Given the description of an element on the screen output the (x, y) to click on. 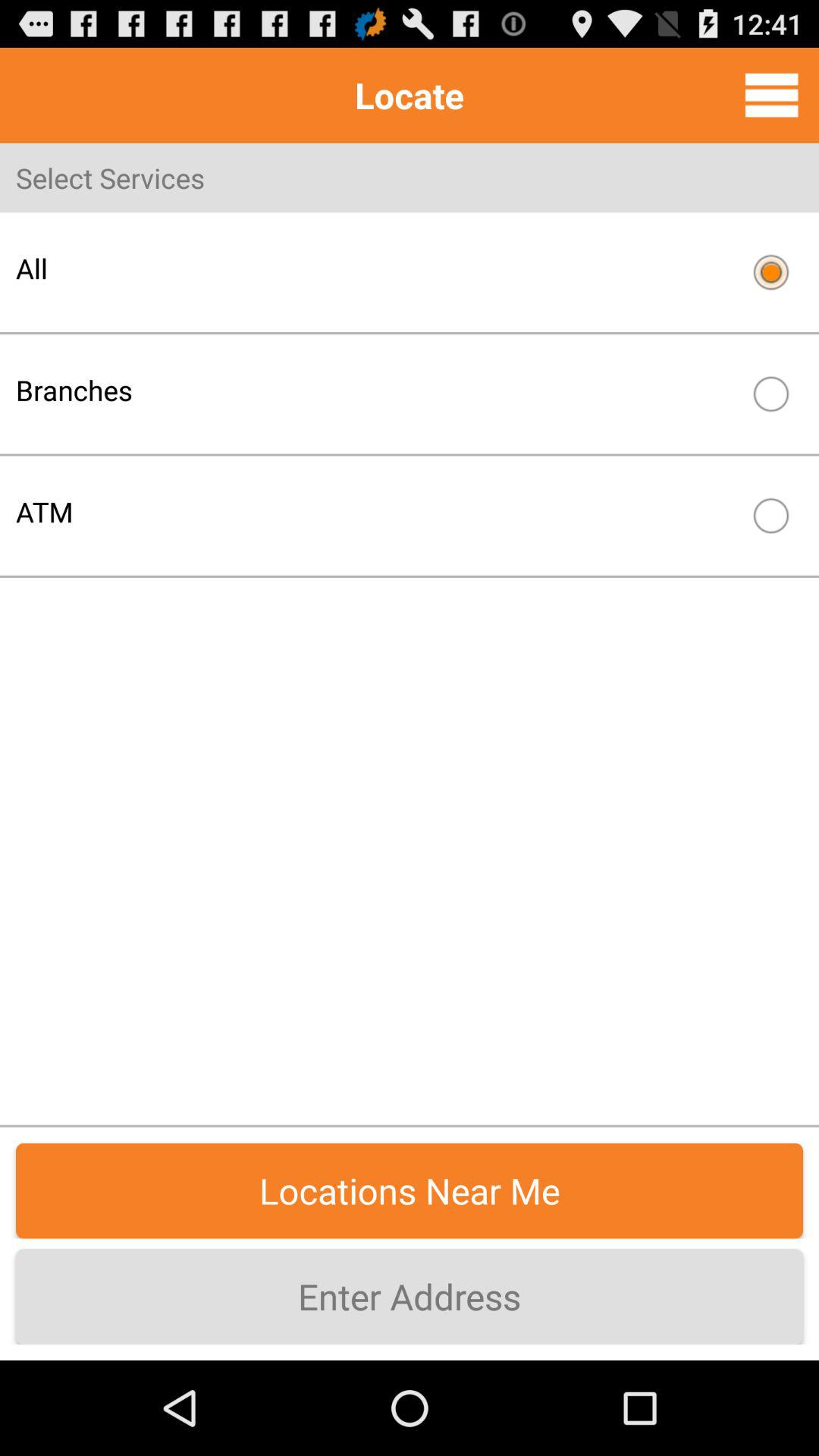
turn off the icon next to locate (771, 95)
